Given the description of an element on the screen output the (x, y) to click on. 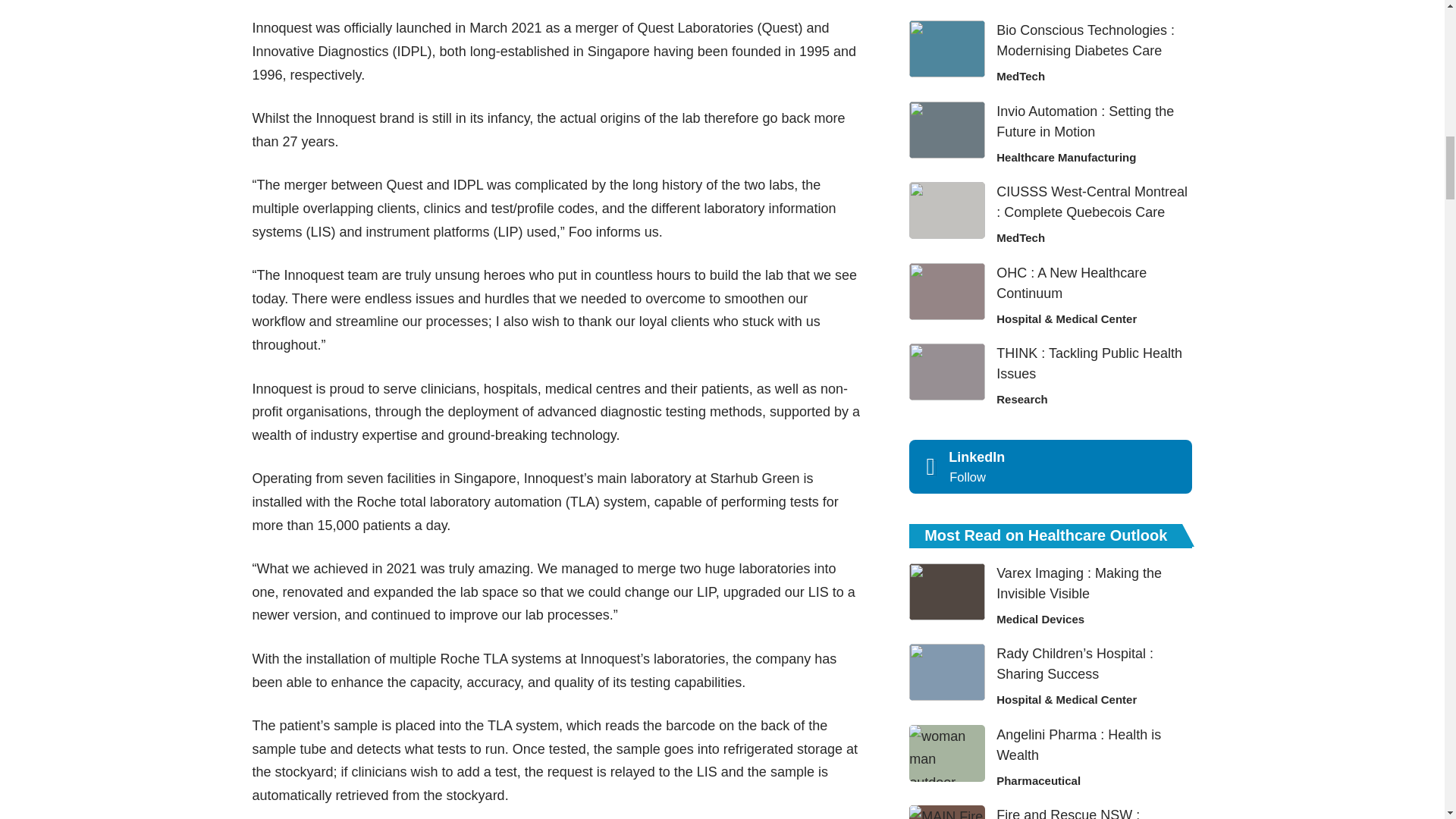
Bio Conscious Technologies : Modernising Diabetes Care (946, 48)
OHC : A New Healthcare Continuum (946, 291)
Invio Automation : Setting the Future in Motion (946, 129)
CIUSSS West-Central Montreal : Complete Quebecois Care (946, 210)
